Given the description of an element on the screen output the (x, y) to click on. 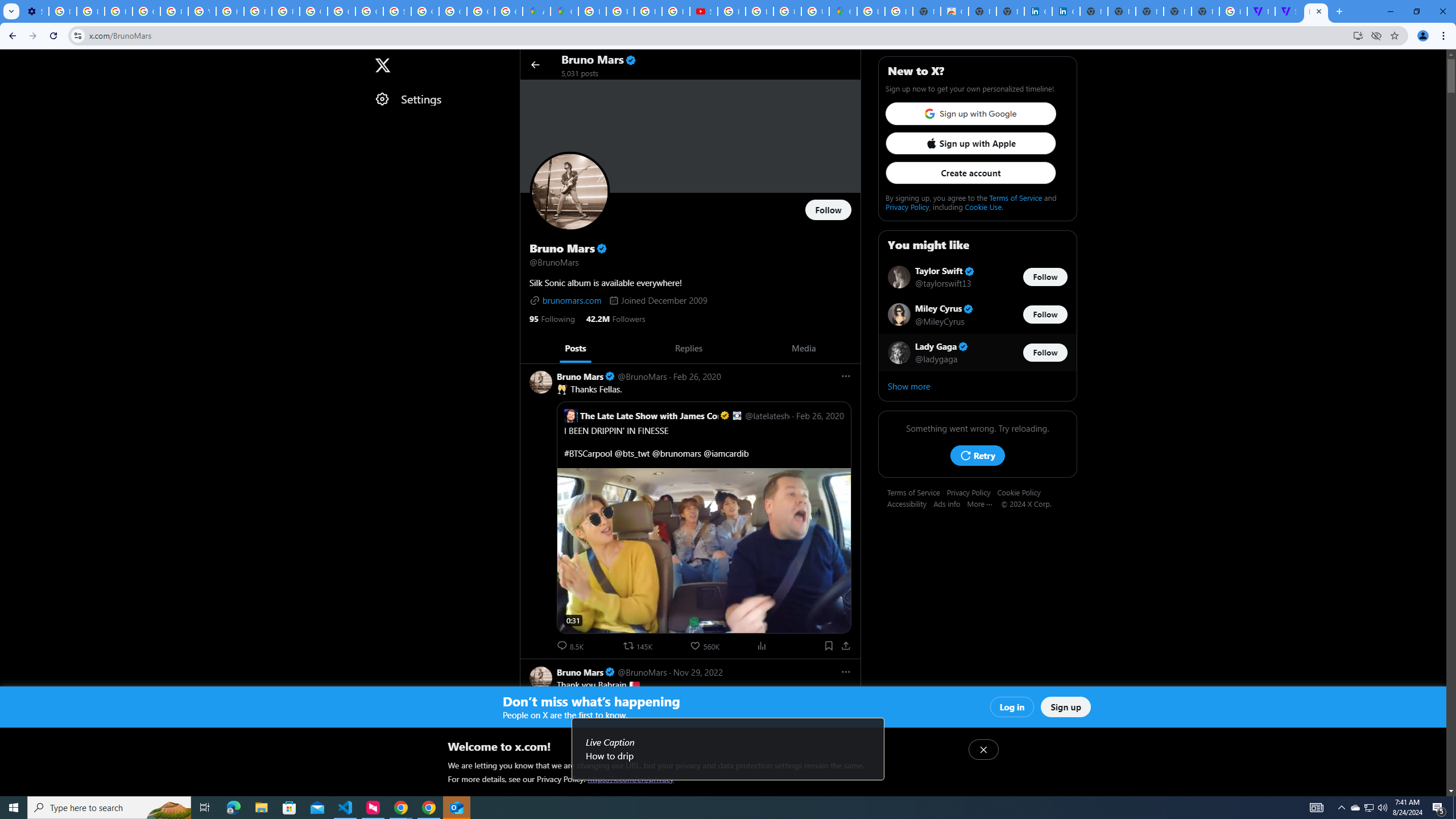
Retry (976, 455)
Address and search bar (717, 35)
Close (1318, 11)
More (983, 503)
Google Maps (842, 11)
Share post (845, 645)
Cookie Use. (983, 206)
95 Following (552, 318)
View site information (77, 35)
Back (10, 35)
Sign up with Google (970, 113)
